Given the description of an element on the screen output the (x, y) to click on. 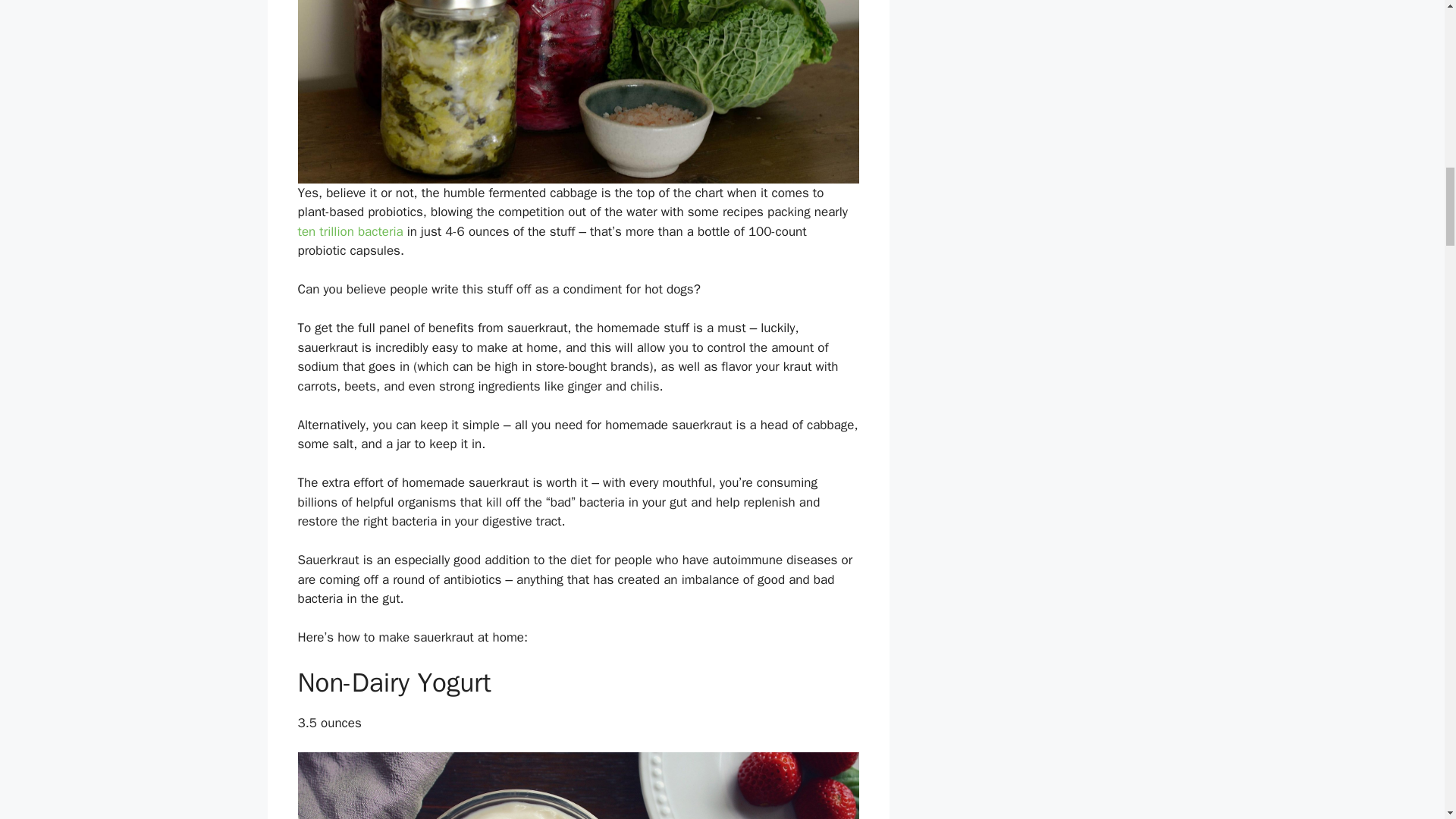
ten trillion bacteria (350, 231)
